Given the description of an element on the screen output the (x, y) to click on. 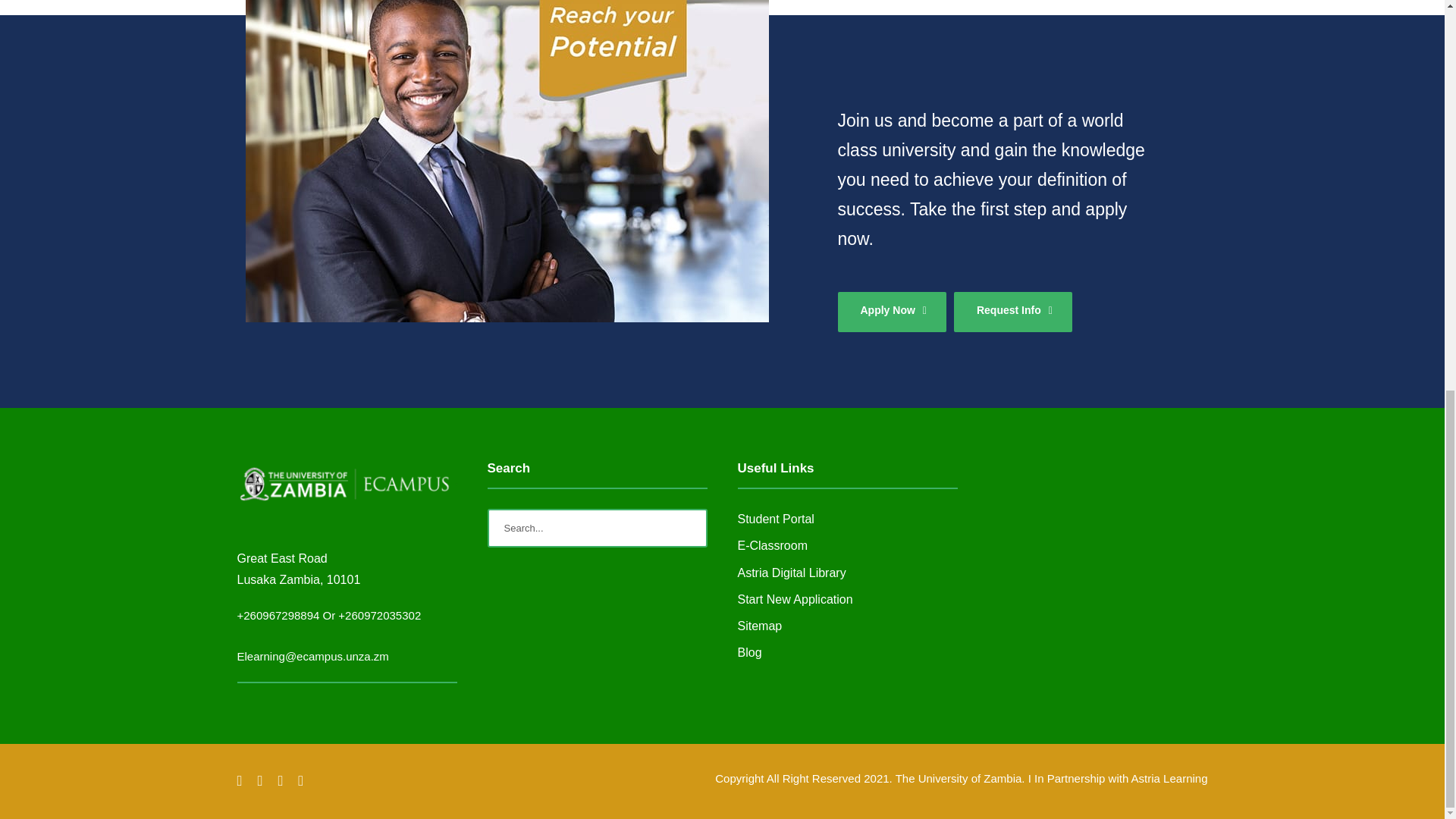
linkedin (259, 780)
instagram (300, 780)
facebook (238, 780)
twitter (280, 780)
